Given the description of an element on the screen output the (x, y) to click on. 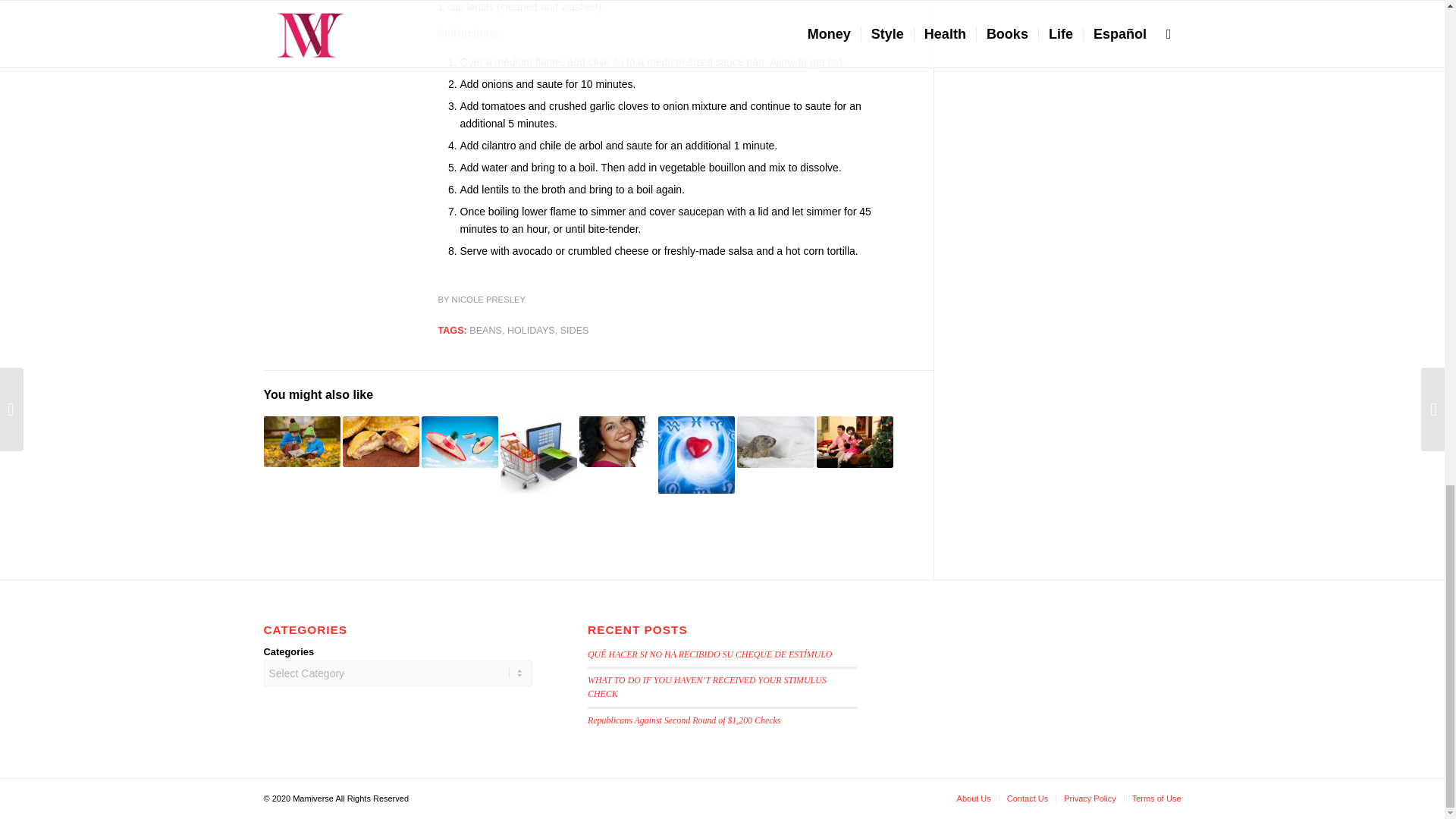
Contact Us (1027, 798)
Privacy Policy (1089, 798)
BEANS (485, 330)
Posts by Nicole Presley (488, 298)
HOLIDAYS (530, 330)
Terms of Use (1156, 798)
SIDES (574, 330)
About Us (973, 798)
5 Little-Known Facts About Cinco de Mayo (459, 441)
